Given the description of an element on the screen output the (x, y) to click on. 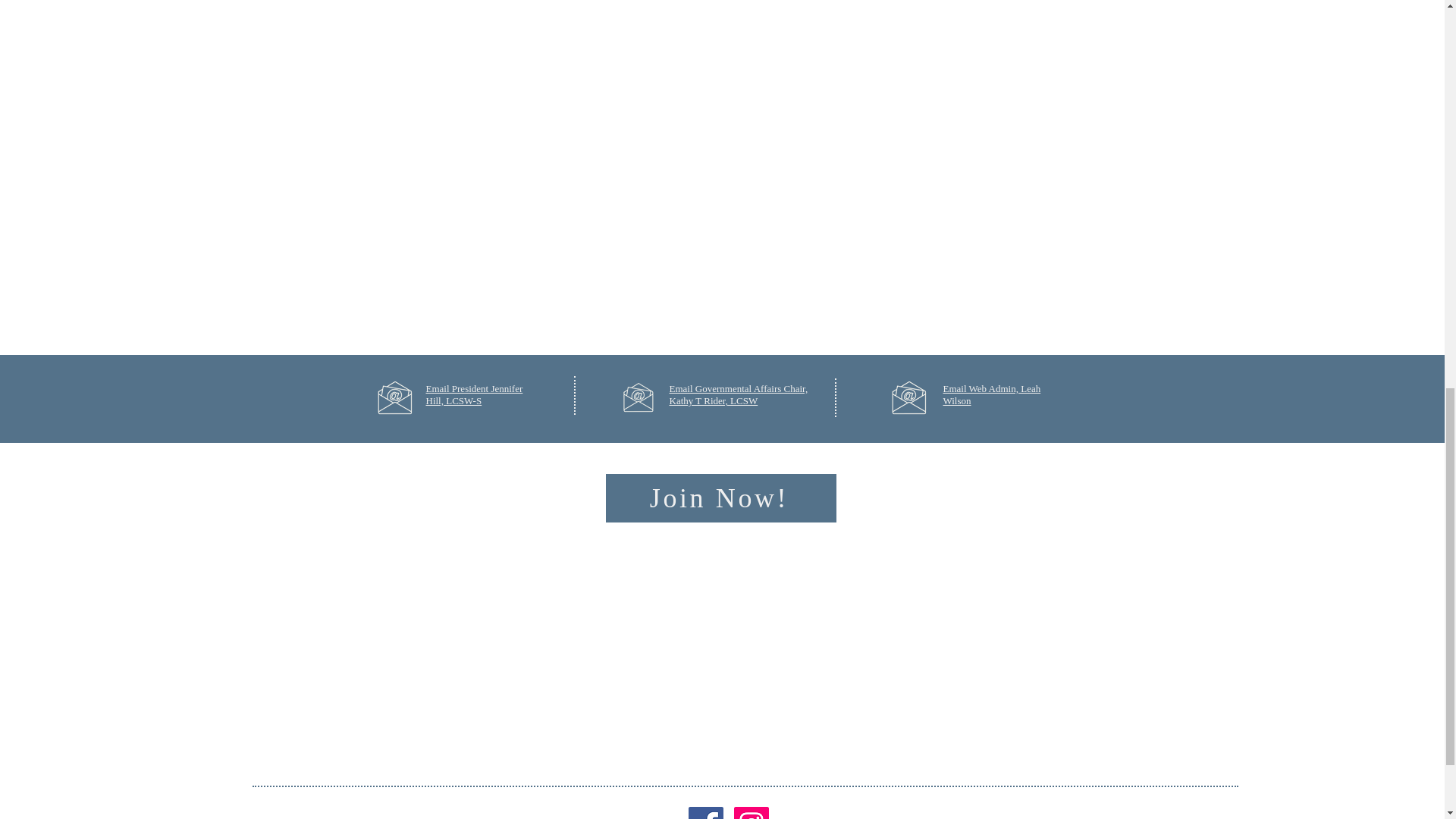
Email Governmental Affairs Chair, Kathy T Rider, LCSW (738, 394)
Join Now! (720, 498)
Email President Jennifer Hill, LCSW-S (474, 394)
Email Web Admin, Leah Wilson (992, 394)
